Given the description of an element on the screen output the (x, y) to click on. 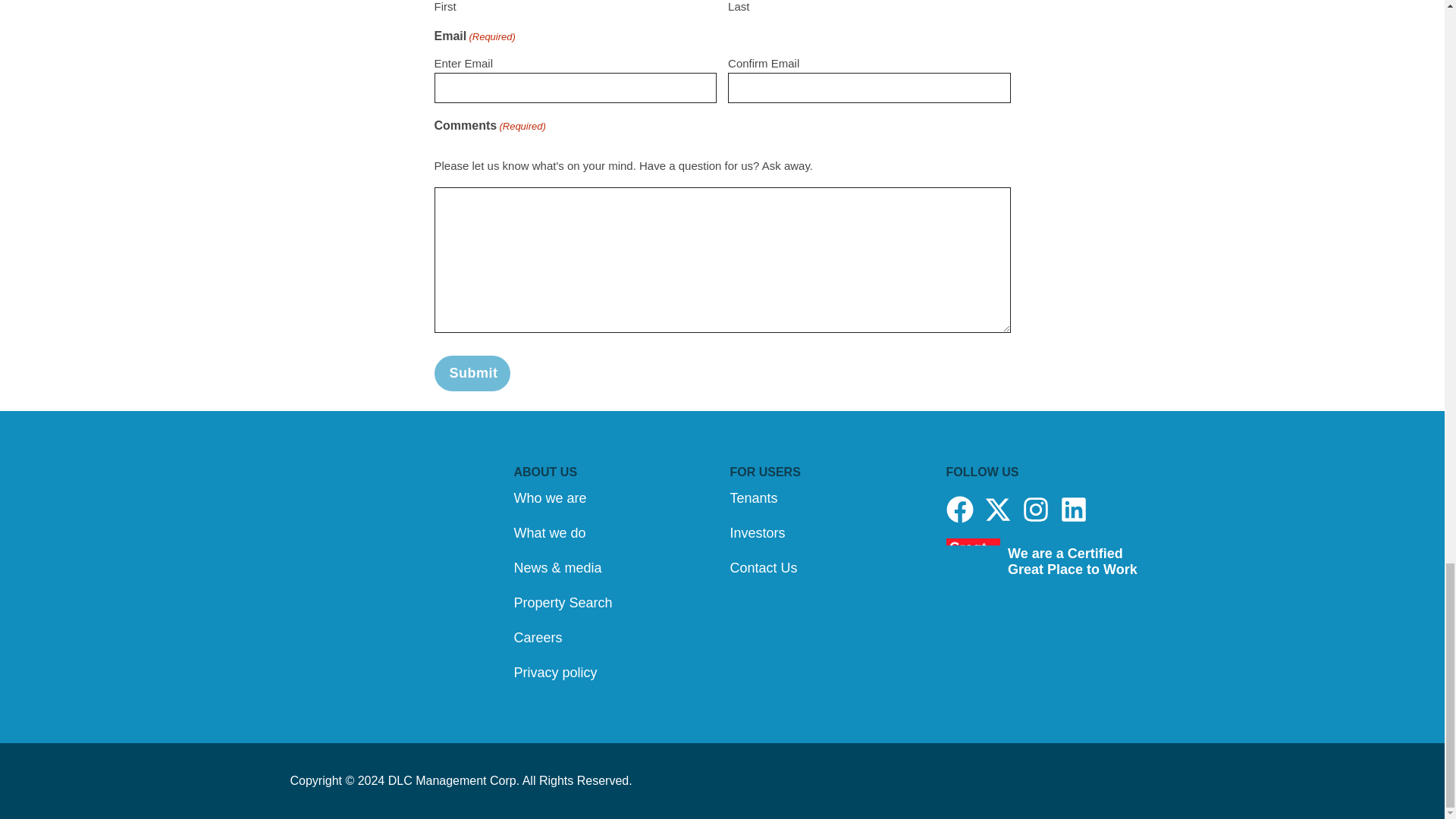
Submit (471, 372)
Who we are (613, 497)
Submit (471, 372)
